Given the description of an element on the screen output the (x, y) to click on. 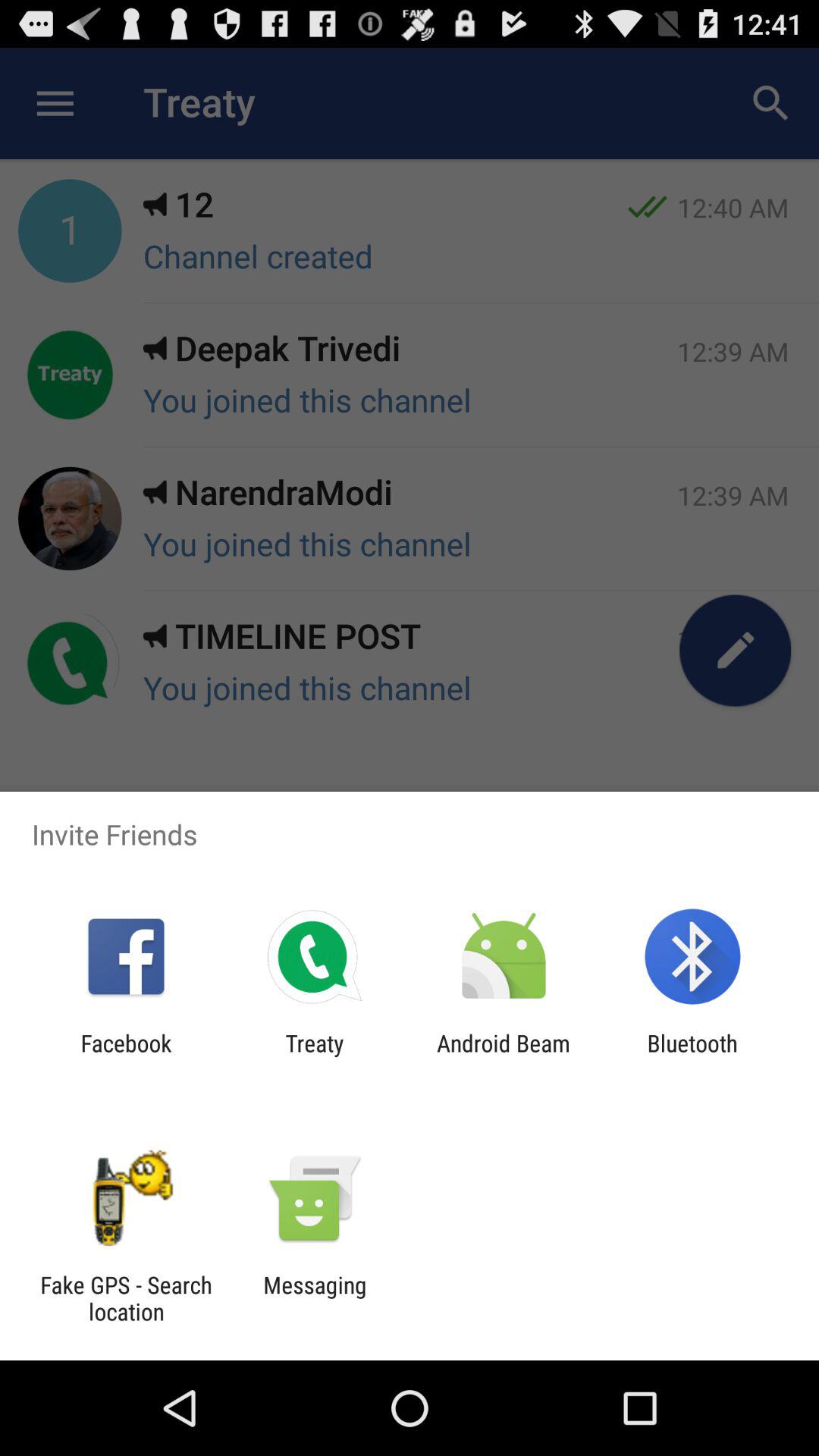
click the item to the left of the messaging app (125, 1298)
